Given the description of an element on the screen output the (x, y) to click on. 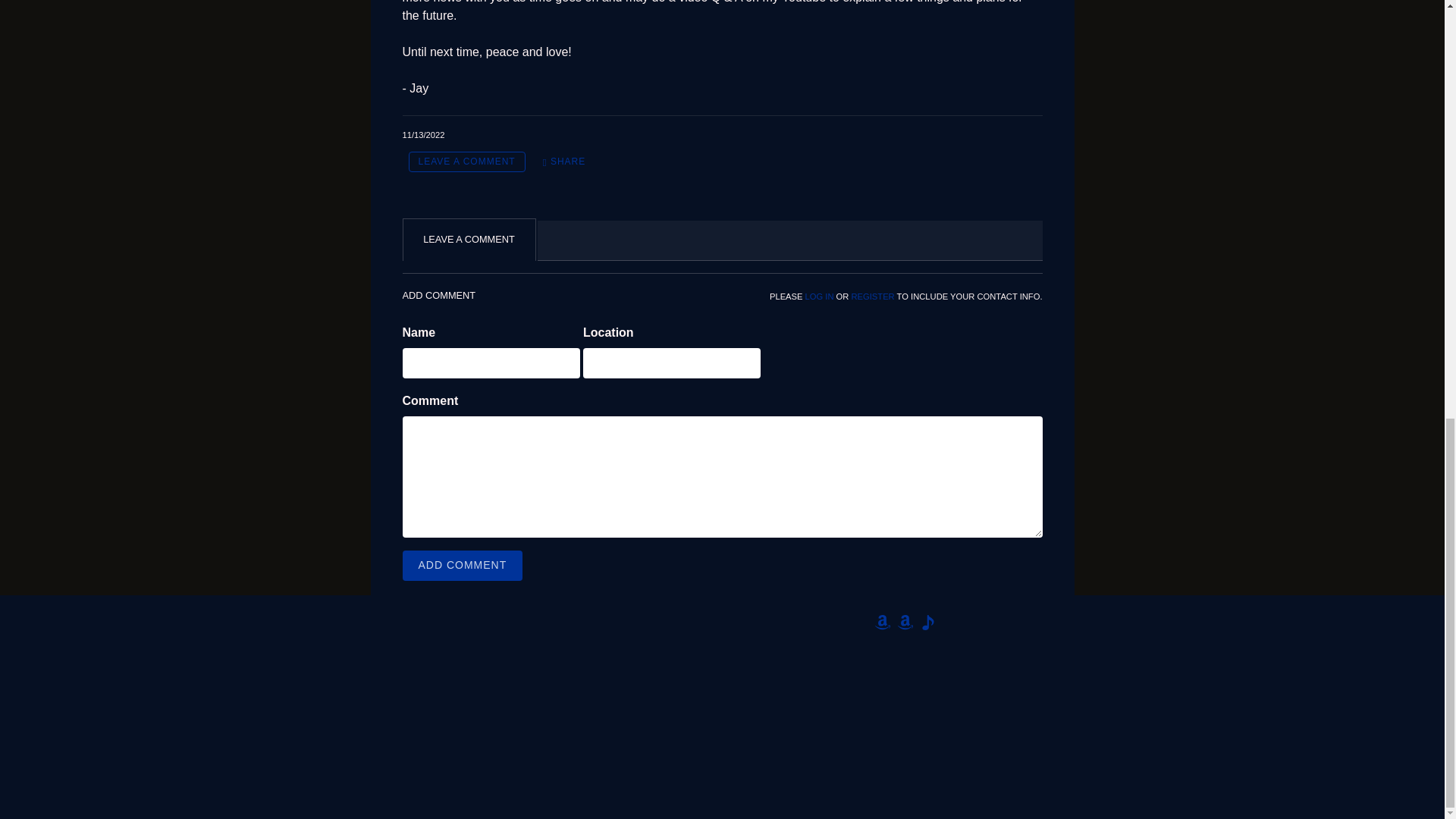
SHARE (564, 161)
Leave a comment (465, 161)
ADD COMMENT (461, 565)
LOG IN (819, 296)
November 13, 2022 21:30 (422, 134)
LEAVE A COMMENT (465, 161)
Share Midnight Museum Of Memory (564, 161)
REGISTER (873, 296)
